Given the description of an element on the screen output the (x, y) to click on. 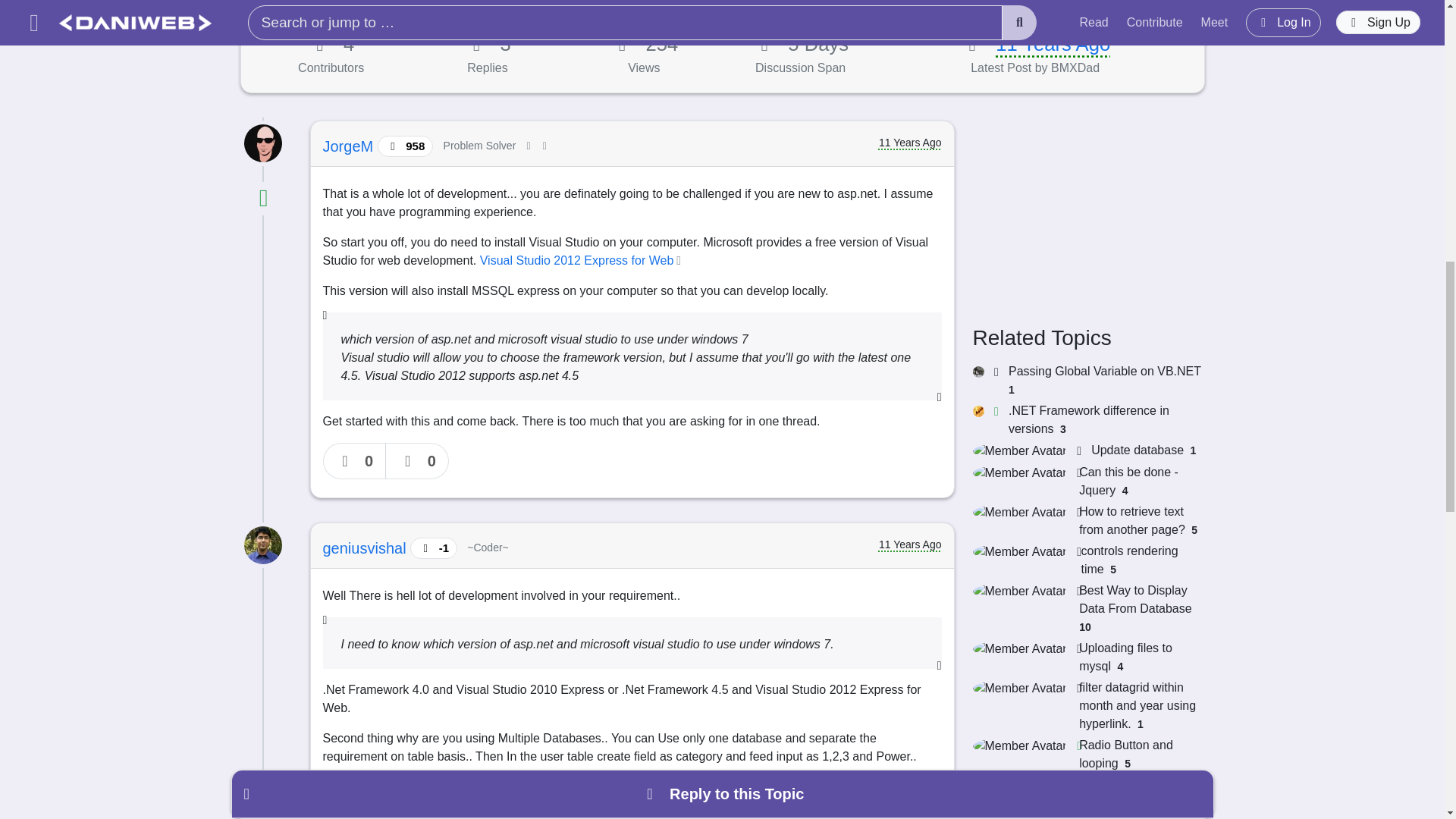
0 (416, 461)
0 (355, 461)
Visual Studio 2012 Express for Web (582, 259)
JorgeM (350, 146)
11 Years Ago (1052, 43)
geniusvishal (366, 547)
